Given the description of an element on the screen output the (x, y) to click on. 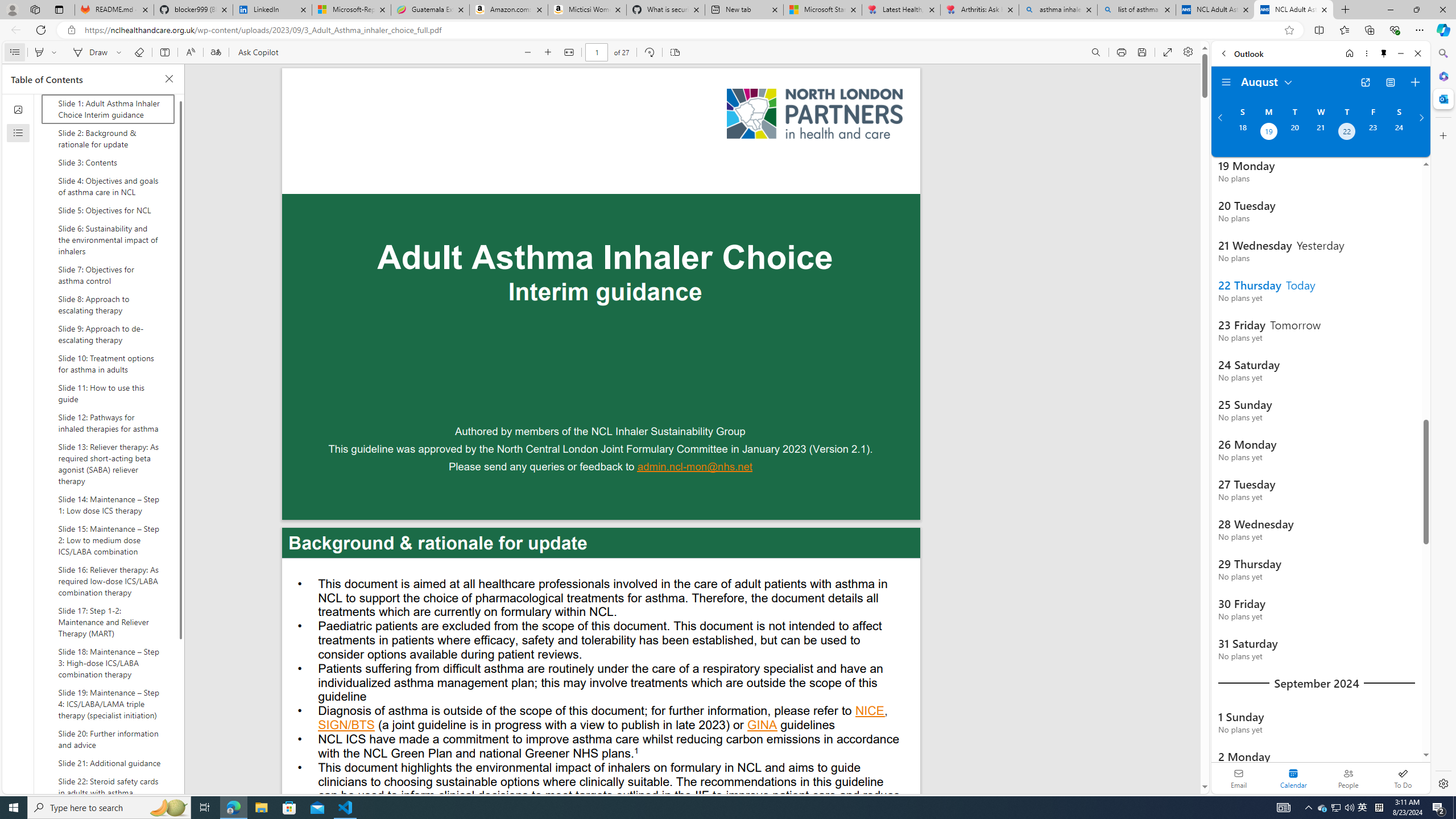
Print (Ctrl+P) (1121, 52)
Friday, August 23, 2024.  (1372, 132)
View Switcher. Current view is Agenda view (1390, 82)
Read aloud (189, 52)
Create event (1414, 82)
Zoom in (Ctrl+Plus key) (548, 52)
